Given the description of an element on the screen output the (x, y) to click on. 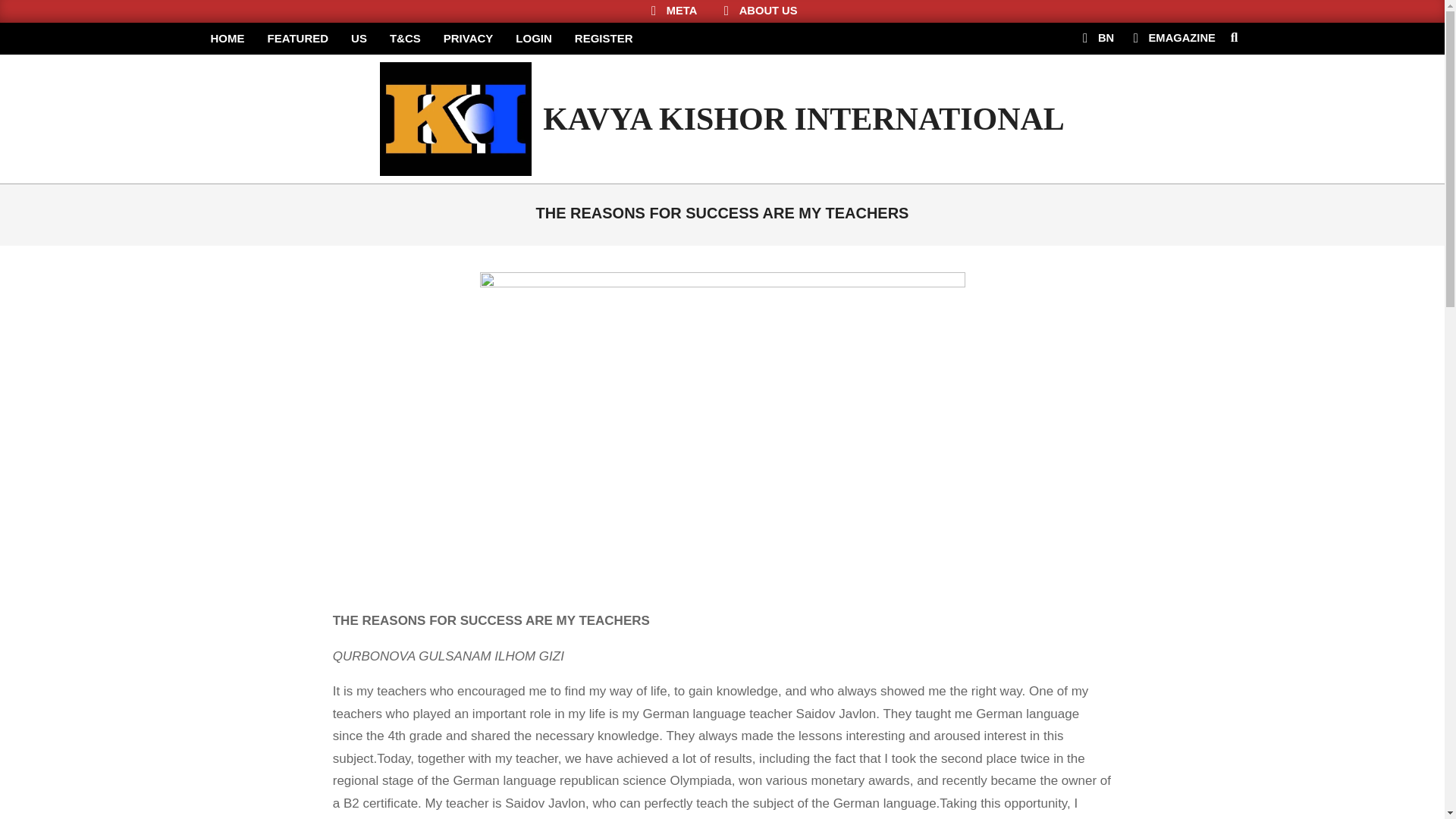
KAVYA KISHOR INTERNATIONAL (803, 119)
Search (24, 9)
FEATURED (298, 38)
REGISTER (604, 38)
US (358, 38)
PRIVACY (468, 38)
HOME (227, 38)
LOGIN (533, 38)
